Given the description of an element on the screen output the (x, y) to click on. 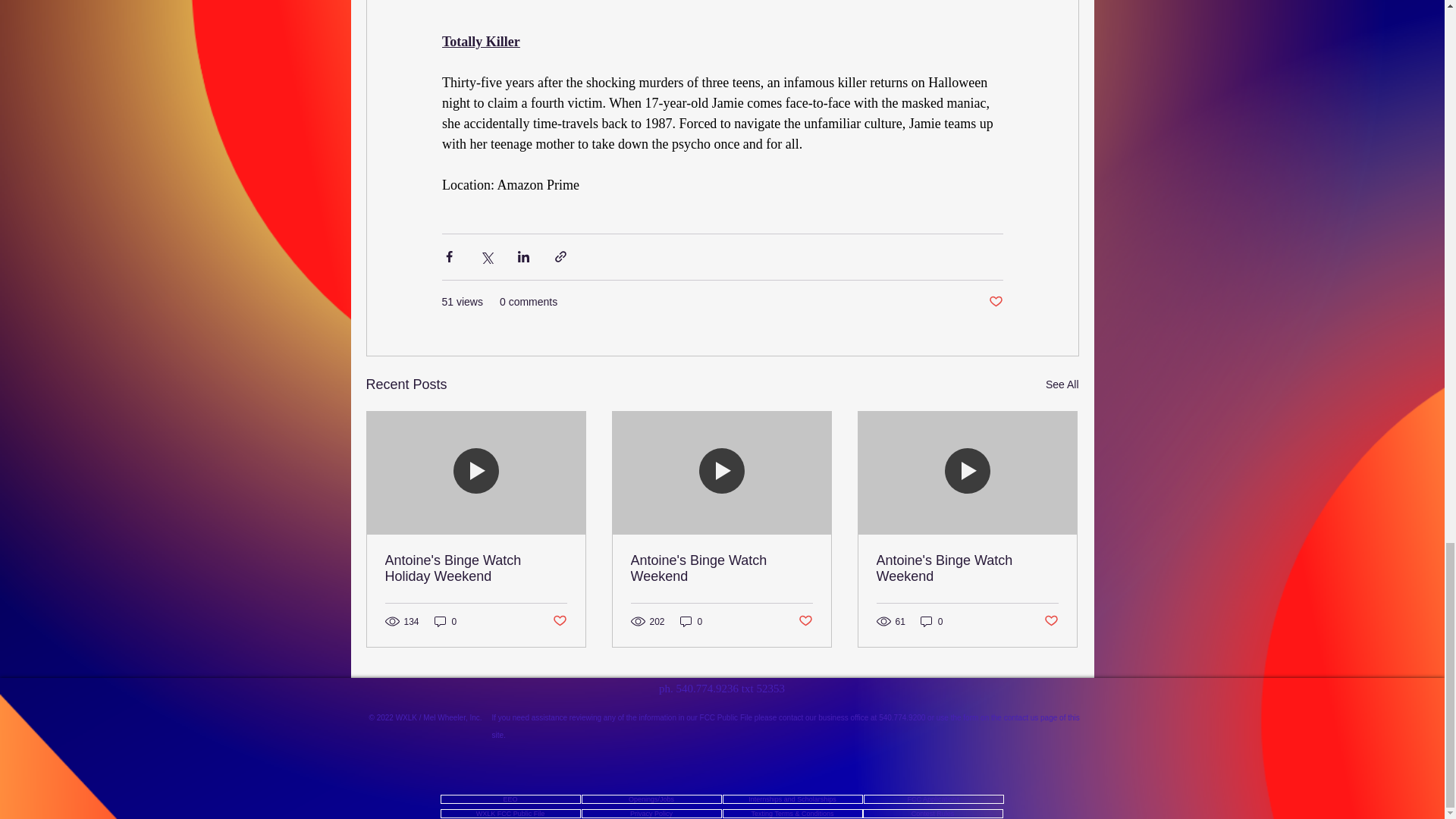
0 (445, 621)
Antoine's Binge Watch Weekend (967, 568)
Antoine's Binge Watch Holiday Weekend (476, 568)
Post not marked as liked (804, 621)
0 (691, 621)
Post not marked as liked (1050, 621)
Antoine's Binge Watch Weekend (721, 568)
EEO (509, 798)
0 (931, 621)
Post not marked as liked (995, 302)
Post not marked as liked (558, 621)
See All (1061, 384)
